Given the description of an element on the screen output the (x, y) to click on. 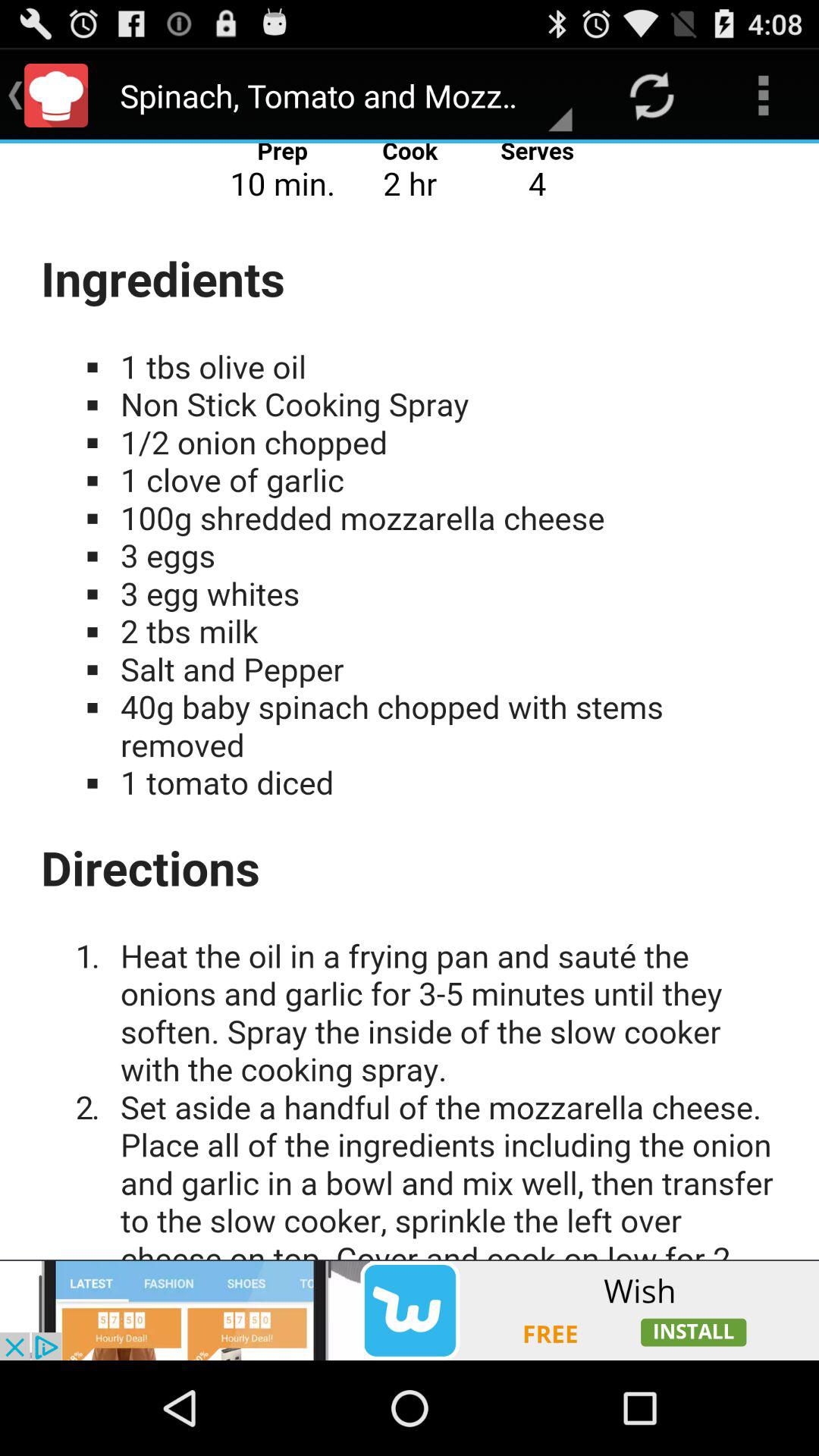
description (409, 701)
